Given the description of an element on the screen output the (x, y) to click on. 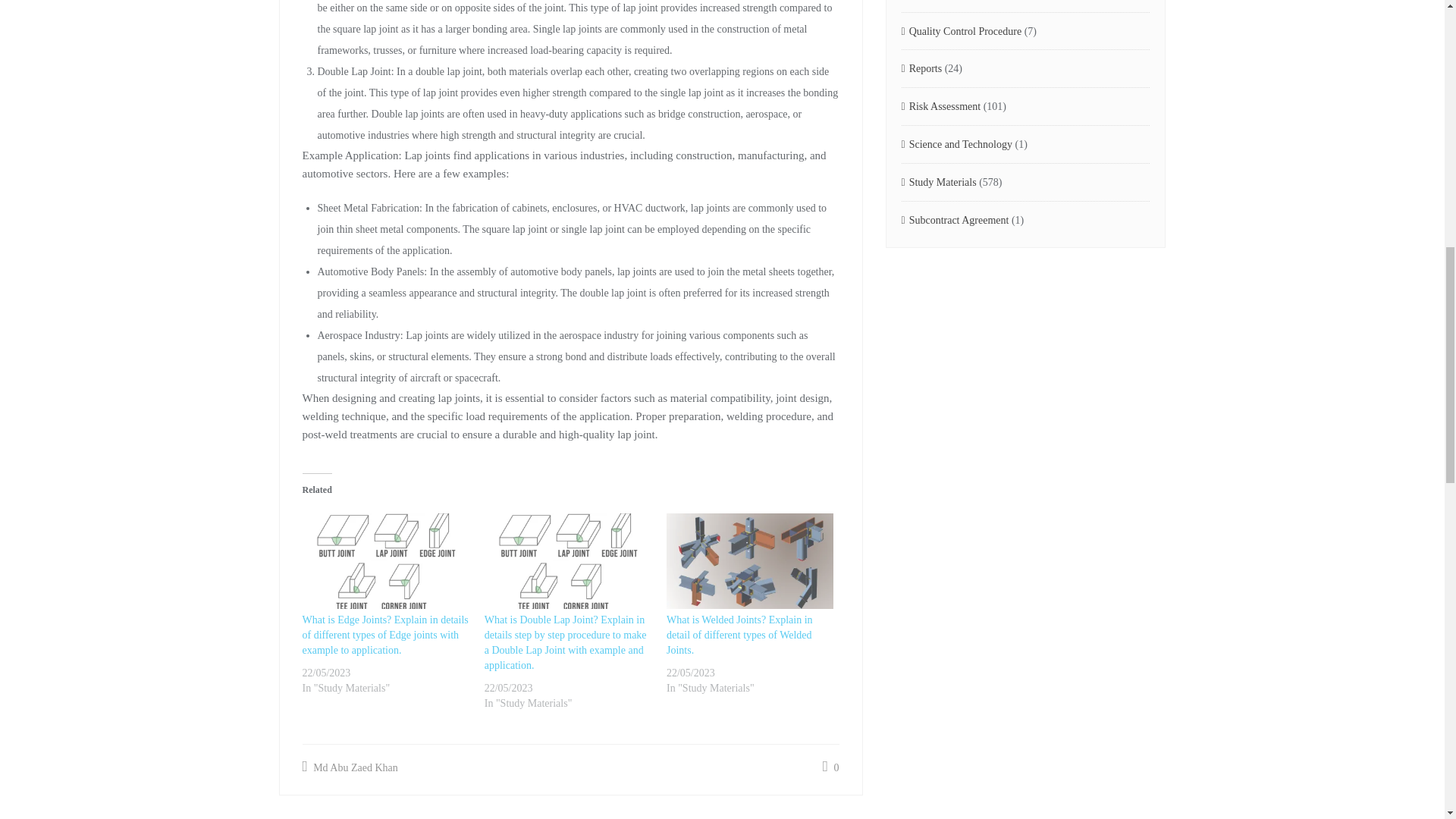
Miscellaneous (935, 2)
Md Abu Zaed Khan (349, 767)
Quality Control Procedure (961, 32)
